Given the description of an element on the screen output the (x, y) to click on. 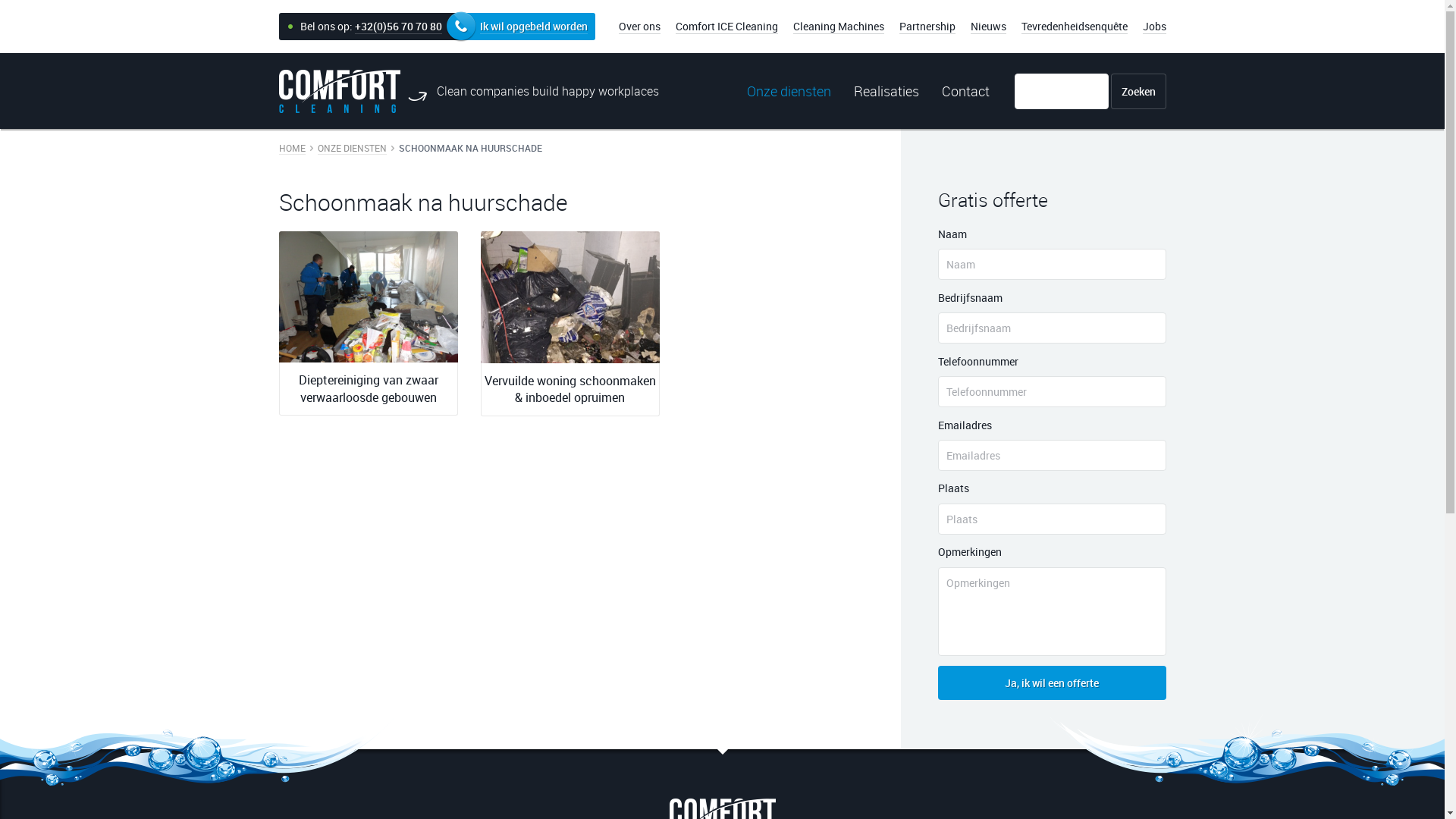
Realisaties Element type: text (885, 90)
Vervuilde woning schoonmaken & inboedel opruimen Element type: hover (569, 297)
Ja, ik wil een offerte Element type: text (1051, 682)
Zoeken Element type: text (1137, 90)
Emailadres Element type: hover (1051, 454)
Bel ons op: +32(0)56 70 70 80 Element type: text (370, 26)
Plaats Element type: hover (1051, 518)
Comfort Cleaning
Clean companies build happy workplaces Element type: text (472, 90)
Nieuws Element type: text (988, 26)
Opmerkingen Element type: hover (1051, 611)
HOME Element type: text (292, 147)
Onze diensten Element type: text (788, 90)
Over ons Element type: text (639, 26)
Bedrijfsnaam Element type: hover (1051, 327)
Naam Element type: hover (1051, 263)
Partnership Element type: text (927, 26)
ONZE DIENSTEN Element type: text (350, 147)
  Ik wil opgebeld worden Element type: text (528, 26)
Telefoonnummer Element type: hover (1051, 391)
Cleaning Machines Element type: text (838, 26)
Comfort ICE Cleaning Element type: text (725, 26)
Contact Element type: text (958, 90)
Jobs Element type: text (1153, 26)
Dieptereiniging van zwaar verwaarloosde gebouwen  Element type: hover (368, 297)
